Given the description of an element on the screen output the (x, y) to click on. 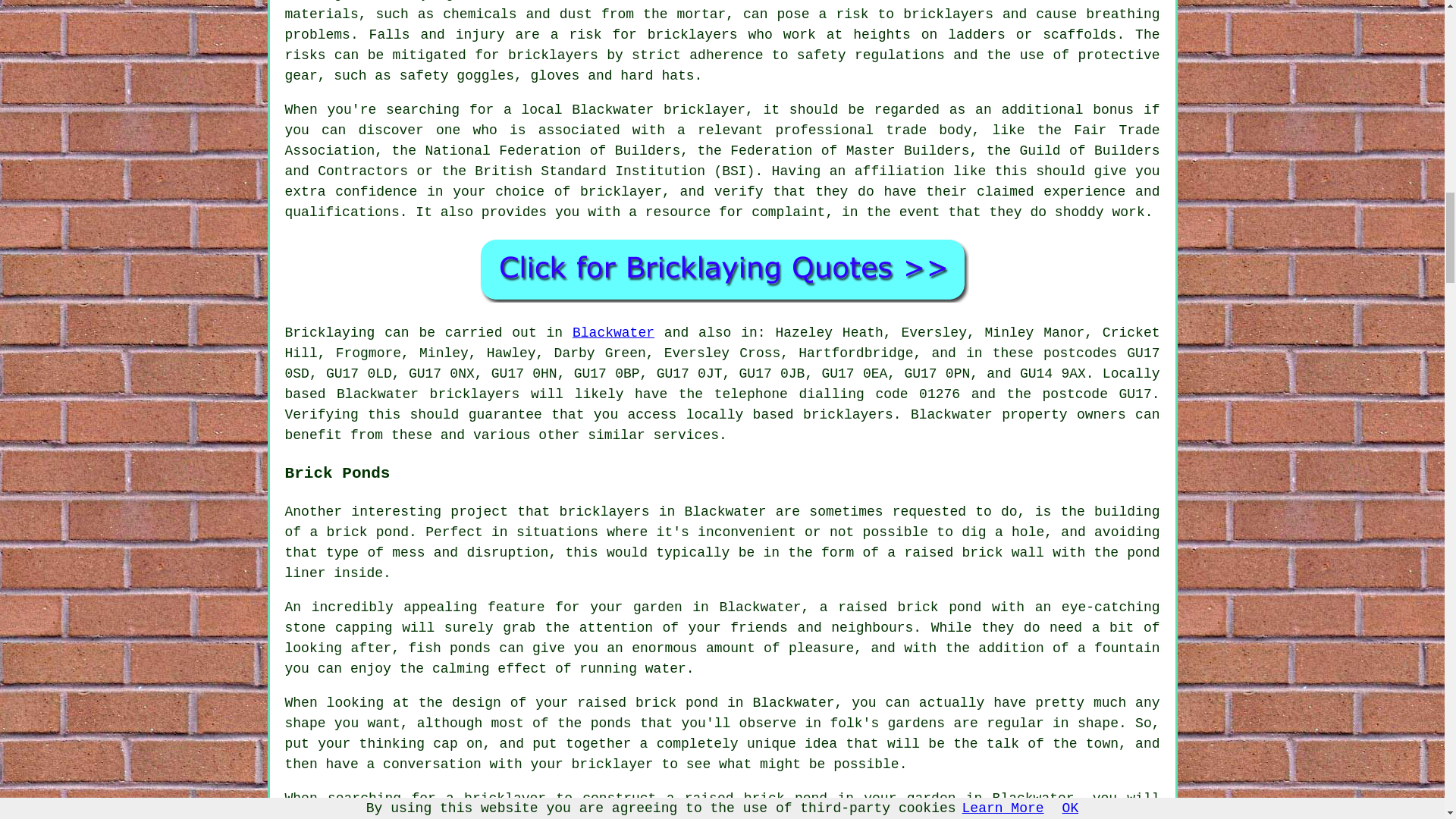
bricklayers (848, 414)
bricklayers (947, 14)
bricklayers (474, 394)
Bricklaying (330, 332)
